Given the description of an element on the screen output the (x, y) to click on. 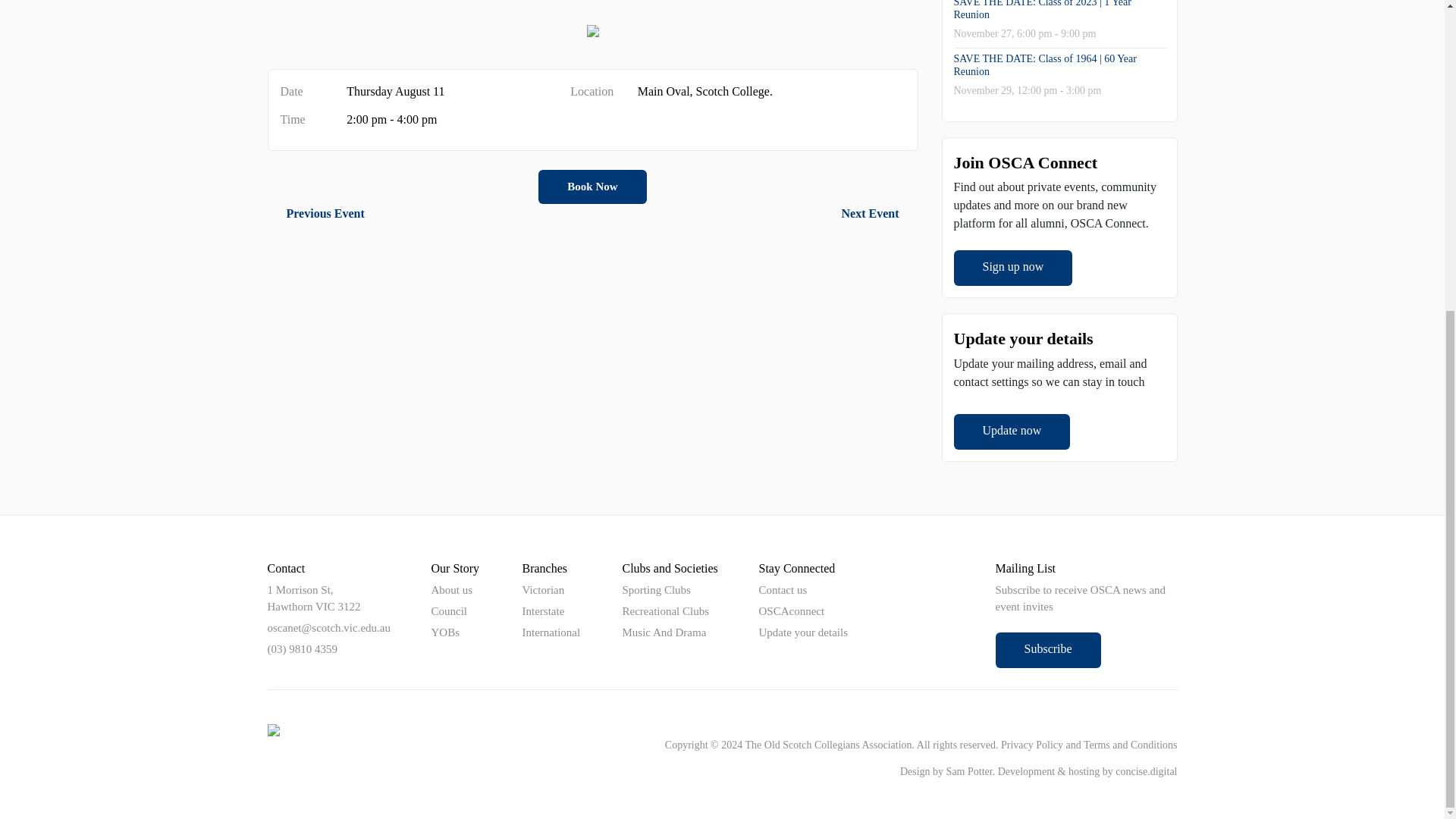
Previous Event (315, 213)
Next Event (879, 213)
Book Now (592, 186)
